Given the description of an element on the screen output the (x, y) to click on. 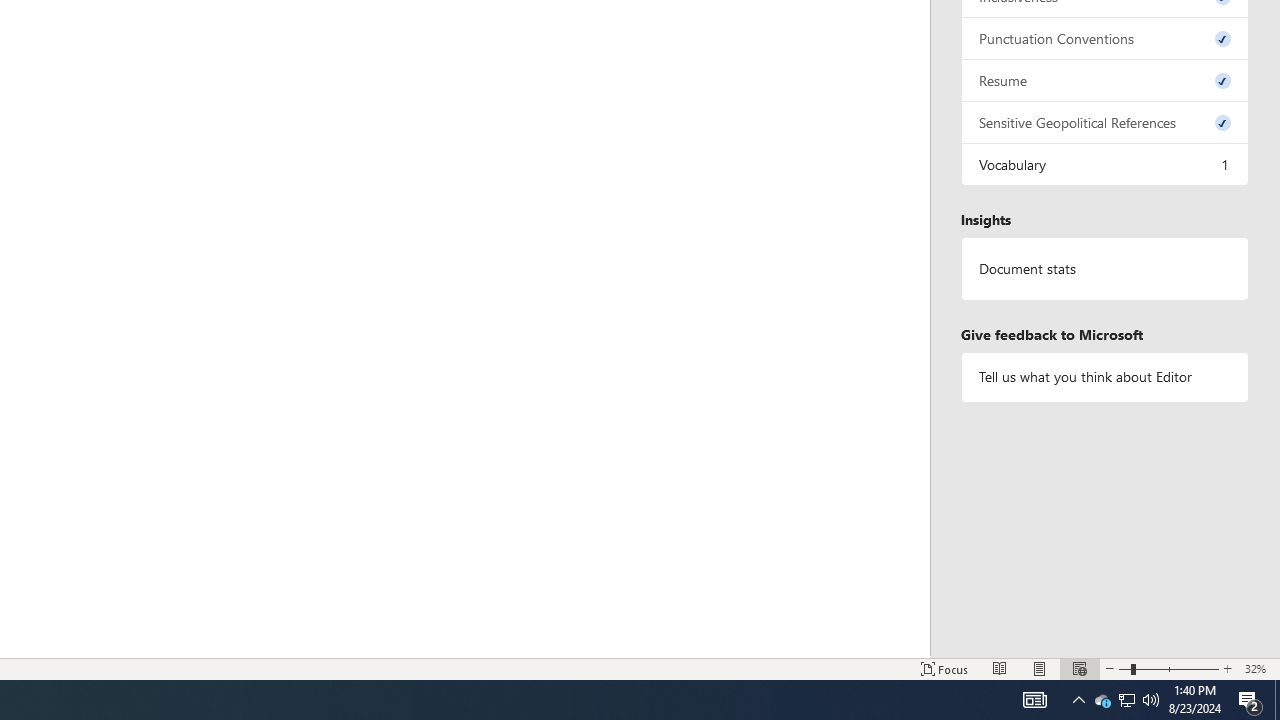
Zoom 32% (1258, 668)
Document statistics (1105, 269)
Resume, 0 issues. Press space or enter to review items. (1105, 79)
Vocabulary, 1 issue. Press space or enter to review items. (1105, 164)
Tell us what you think about Editor (1105, 376)
